Given the description of an element on the screen output the (x, y) to click on. 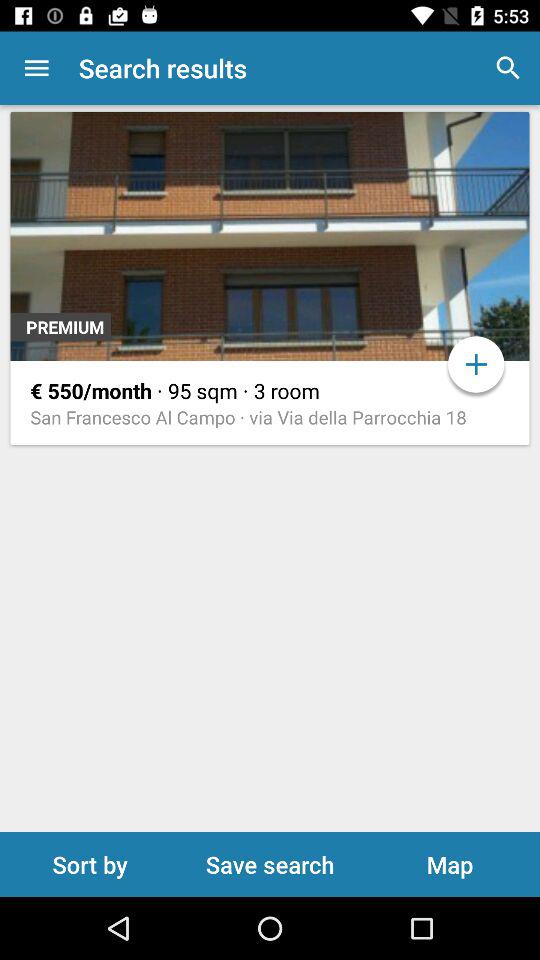
swipe to the save search item (270, 863)
